Given the description of an element on the screen output the (x, y) to click on. 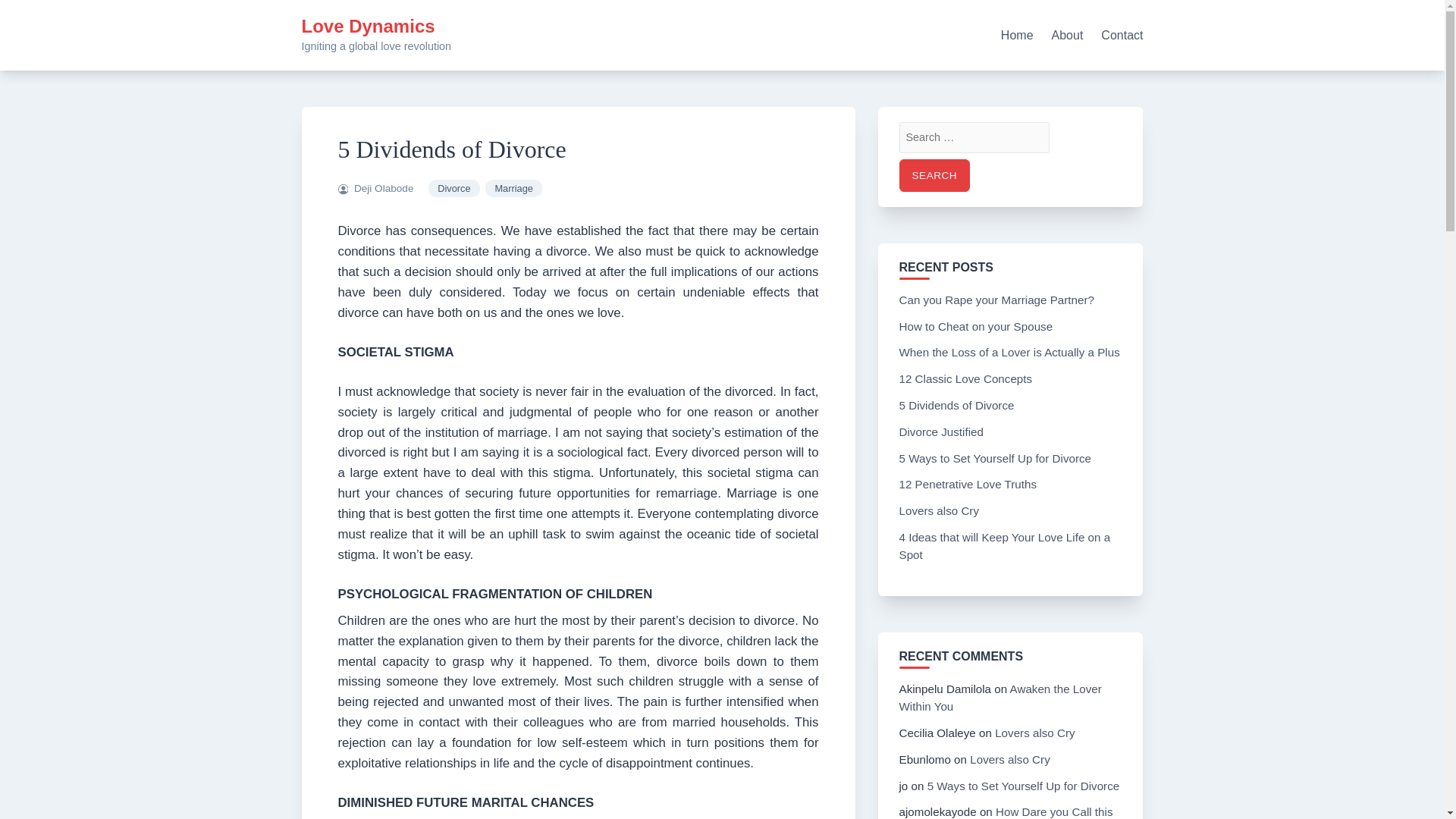
12 Classic Love Concepts (965, 378)
Contact (1121, 35)
When the Loss of a Lover is Actually a Plus (1009, 351)
Home (1017, 35)
Love Dynamics (368, 25)
About (1067, 35)
Search (935, 174)
Divorce Justified (941, 431)
Search (935, 174)
Can you Rape your Marriage Partner? (996, 299)
